Given the description of an element on the screen output the (x, y) to click on. 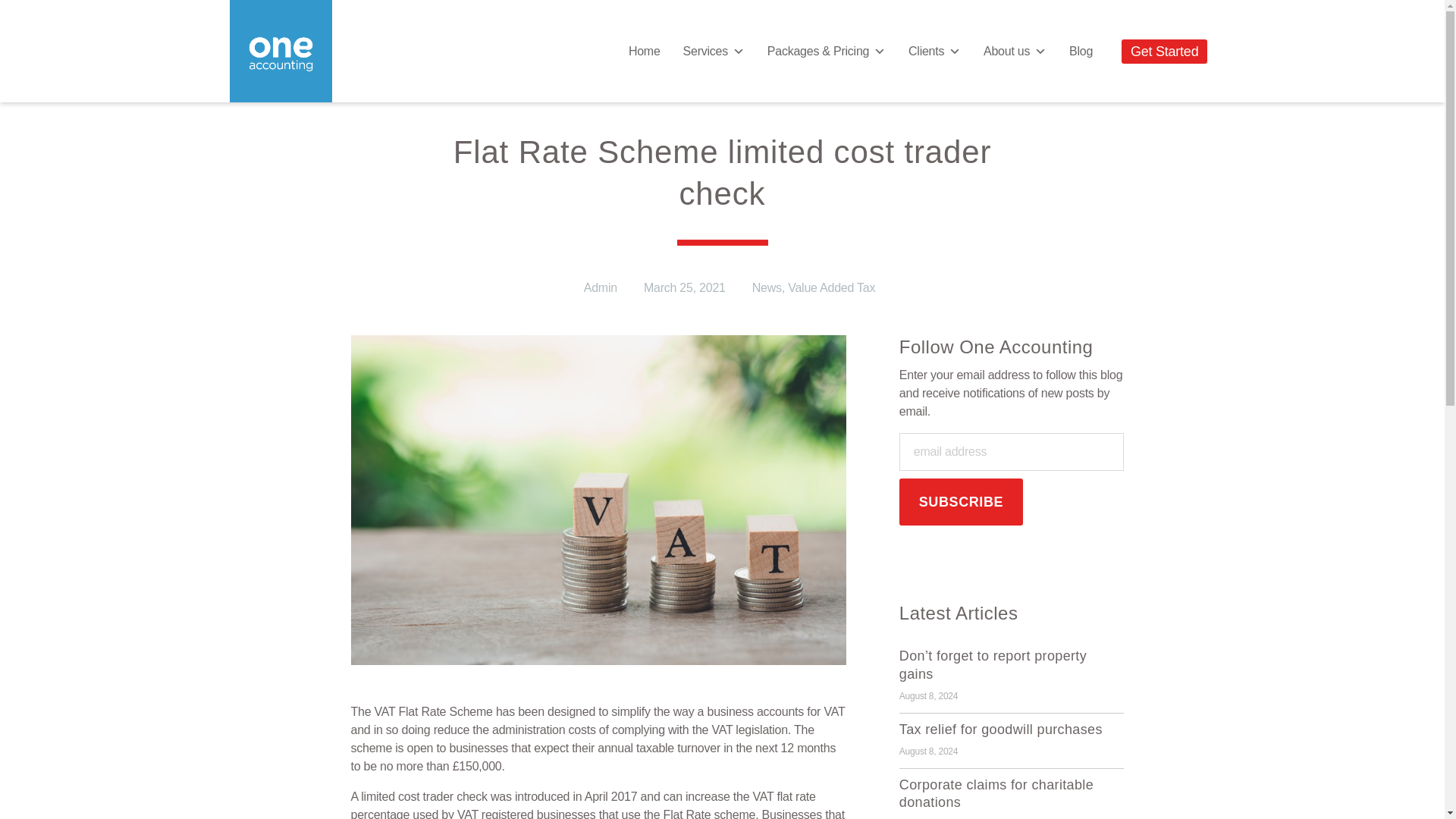
Services (713, 51)
Subscribe (961, 501)
Home (644, 51)
